Given the description of an element on the screen output the (x, y) to click on. 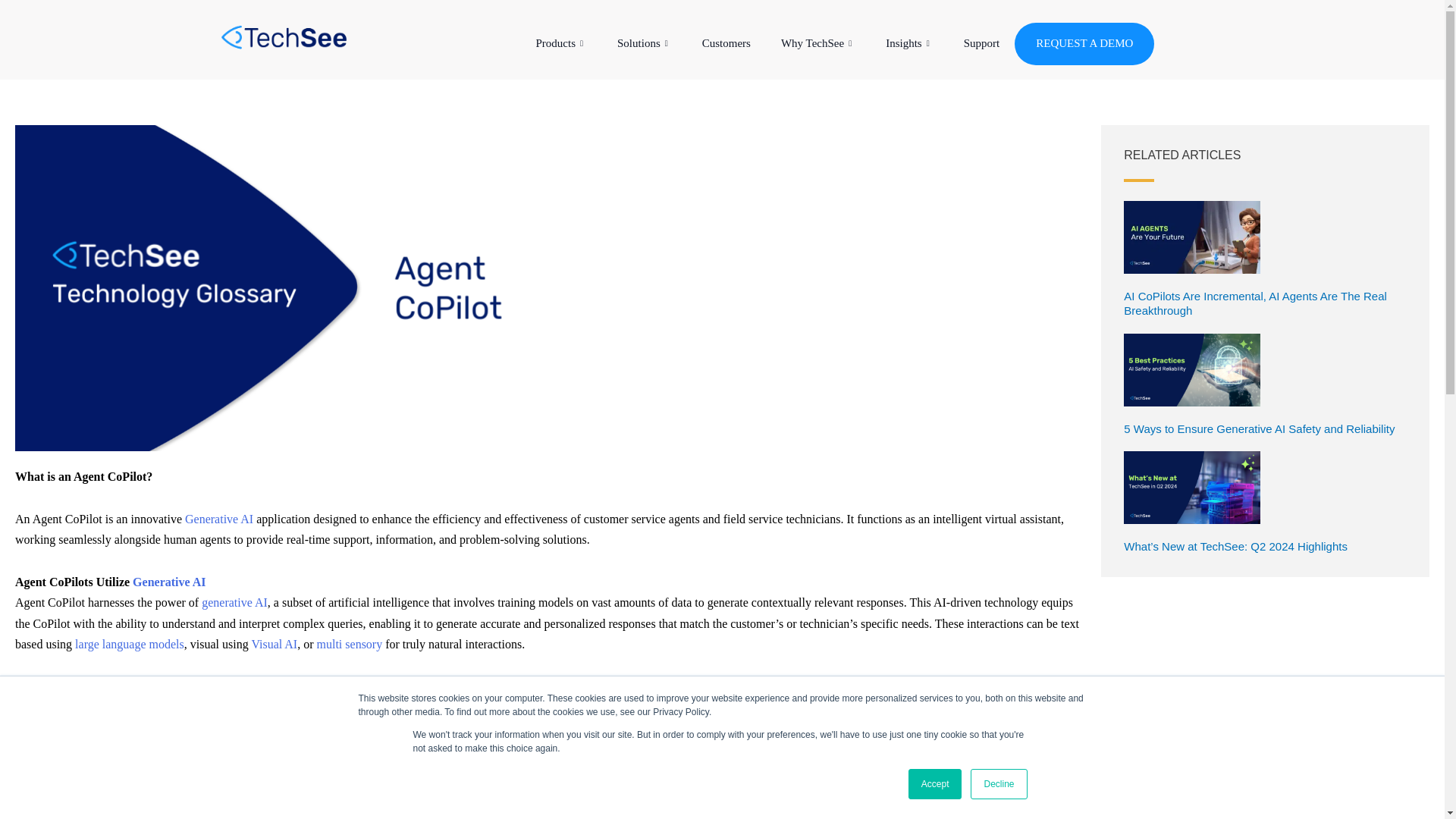
Products (560, 43)
Solutions (644, 43)
Decline (998, 784)
Why TechSee (817, 43)
Insights (909, 43)
Accept (935, 784)
Customers (726, 43)
